Given the description of an element on the screen output the (x, y) to click on. 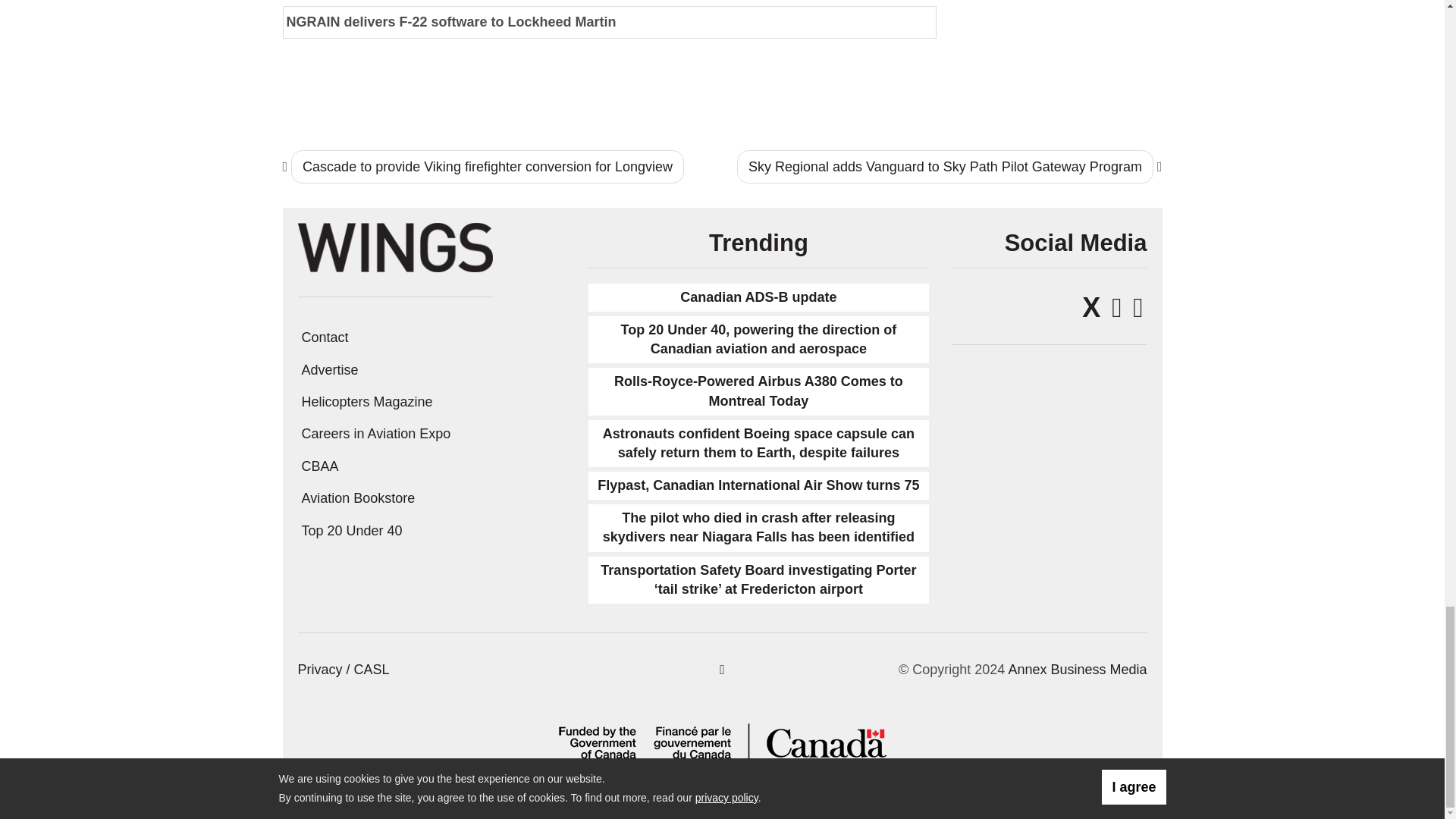
Annex Business Media (1077, 669)
Wings Magazine (395, 246)
